Given the description of an element on the screen output the (x, y) to click on. 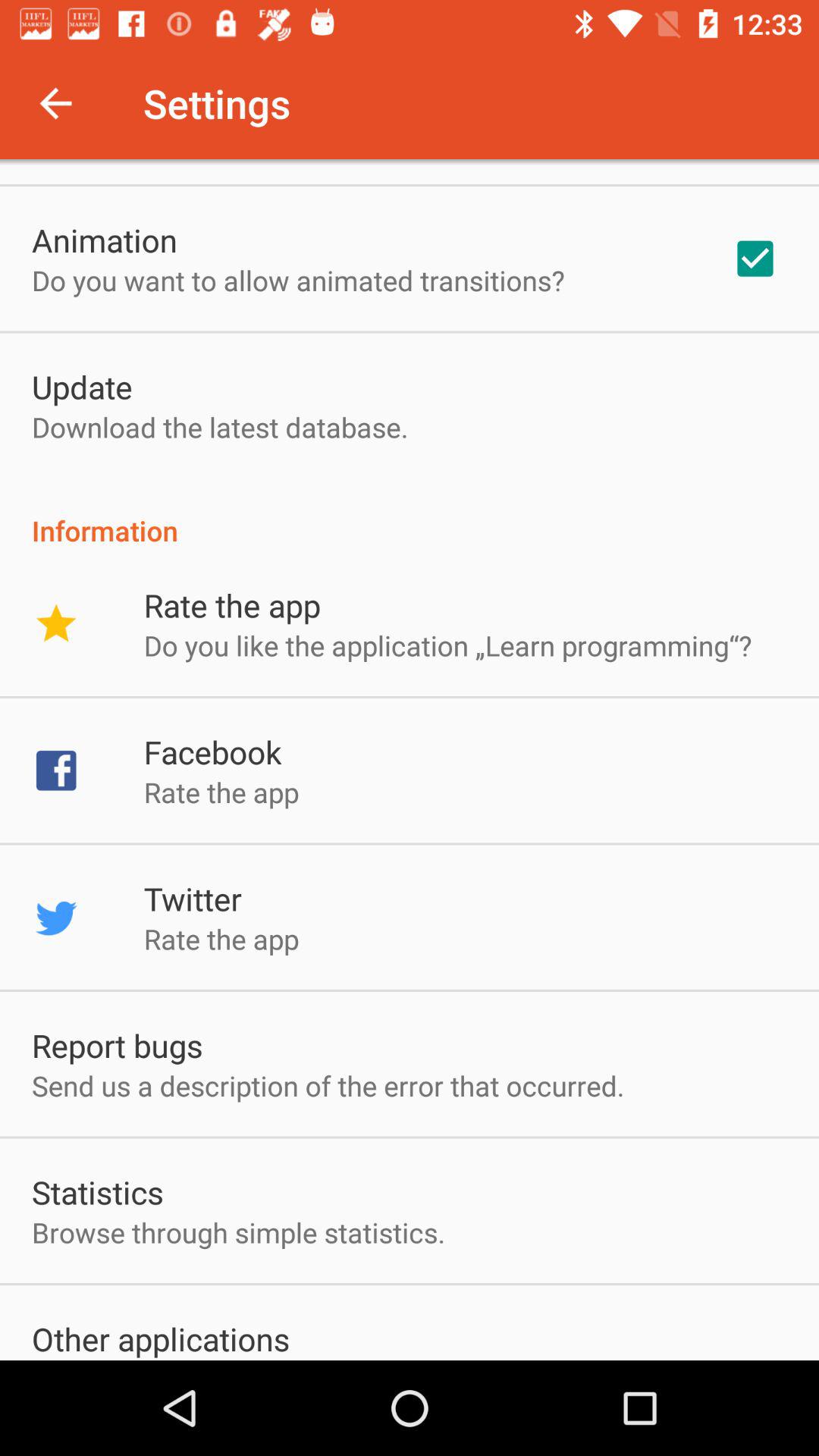
choose icon below statistics (238, 1232)
